Given the description of an element on the screen output the (x, y) to click on. 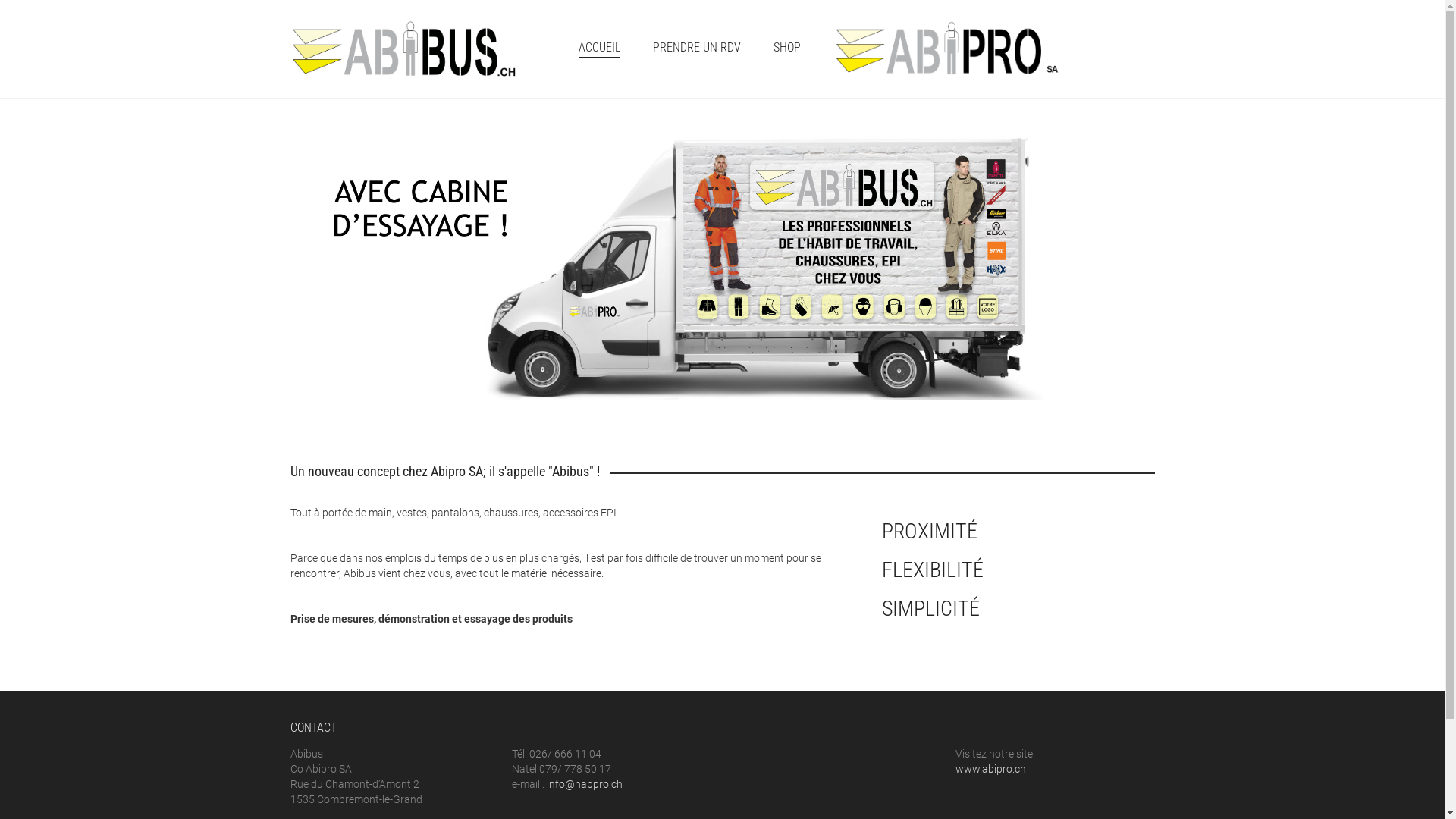
SHOP Element type: text (786, 48)
info@habpro.ch Element type: text (584, 784)
PRENDRE UN RDV Element type: text (696, 48)
ACCUEIL Element type: text (598, 48)
www.abipro.ch Element type: text (990, 768)
